Given the description of an element on the screen output the (x, y) to click on. 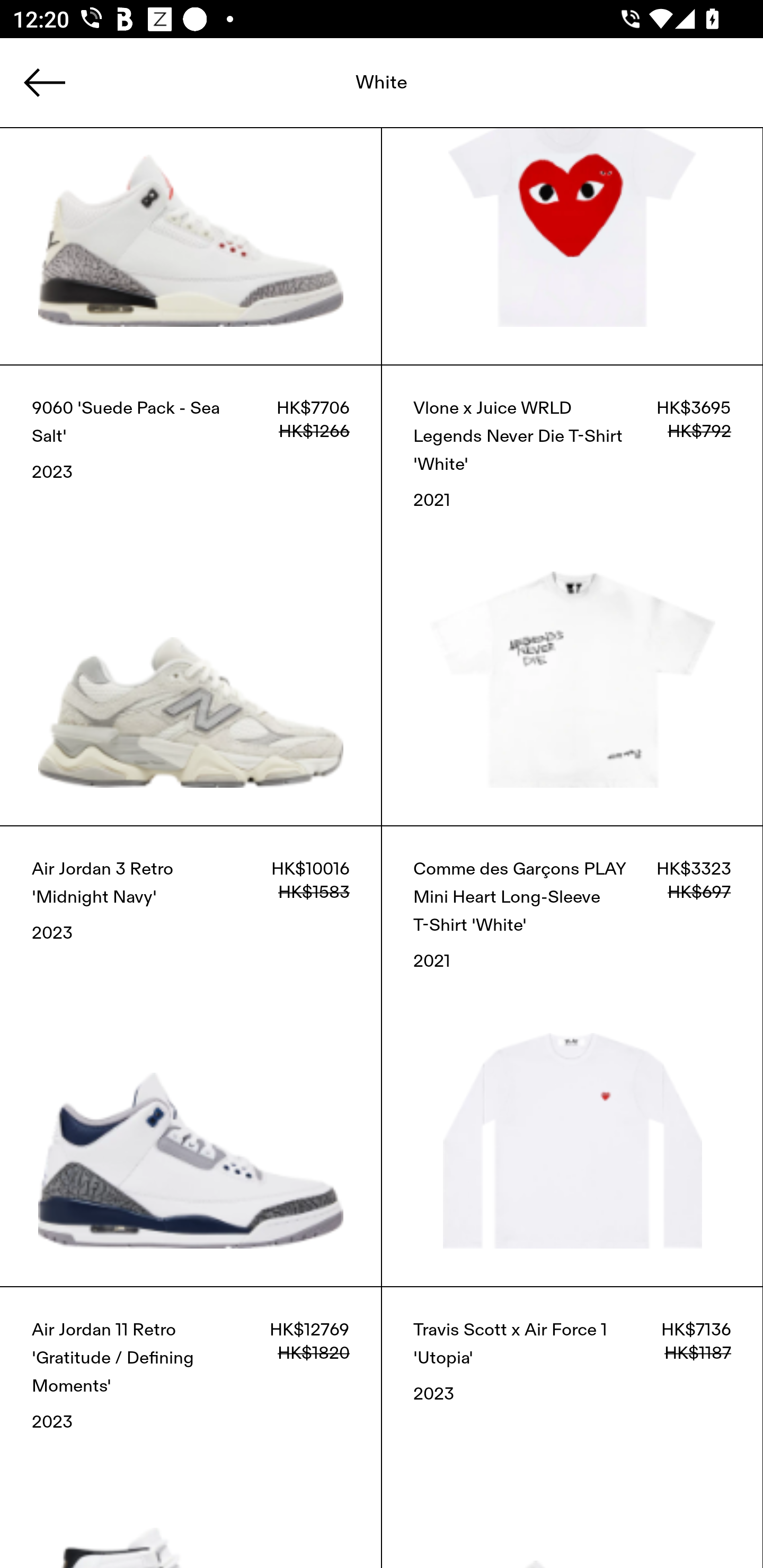
9060 'Suede Pack - Sea Salt' HK$7706 HK$1266 2023 (190, 595)
